Given the description of an element on the screen output the (x, y) to click on. 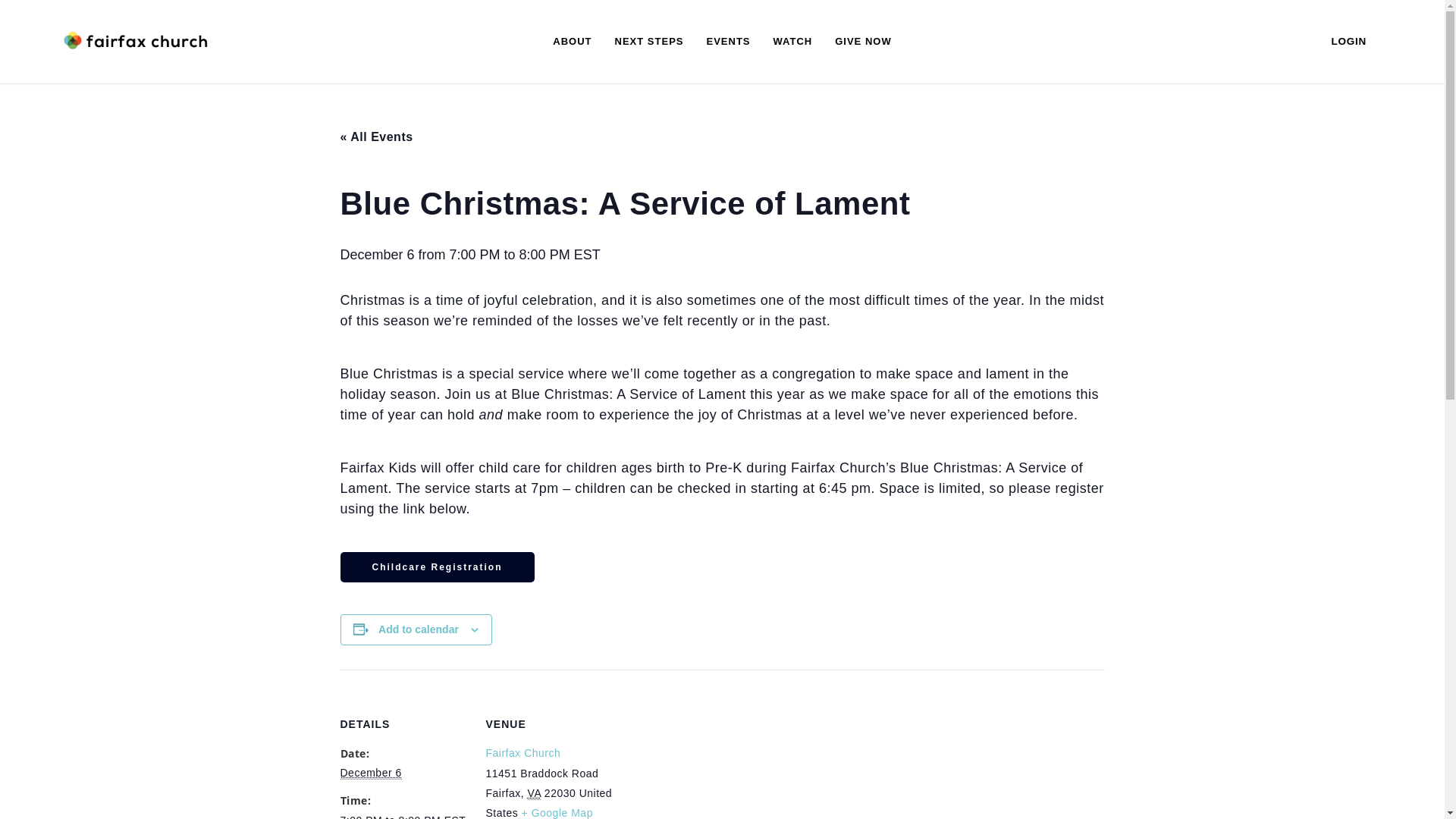
Childcare Registration Element type: text (436, 567)
Fairfax Church Element type: text (522, 752)
EVENTS Element type: text (727, 41)
Add to calendar Element type: text (418, 629)
GIVE NOW Element type: text (862, 41)
WATCH Element type: text (792, 41)
LOGIN Element type: text (1349, 41)
ABOUT Element type: text (571, 41)
NEXT STEPS Element type: text (649, 41)
